Given the description of an element on the screen output the (x, y) to click on. 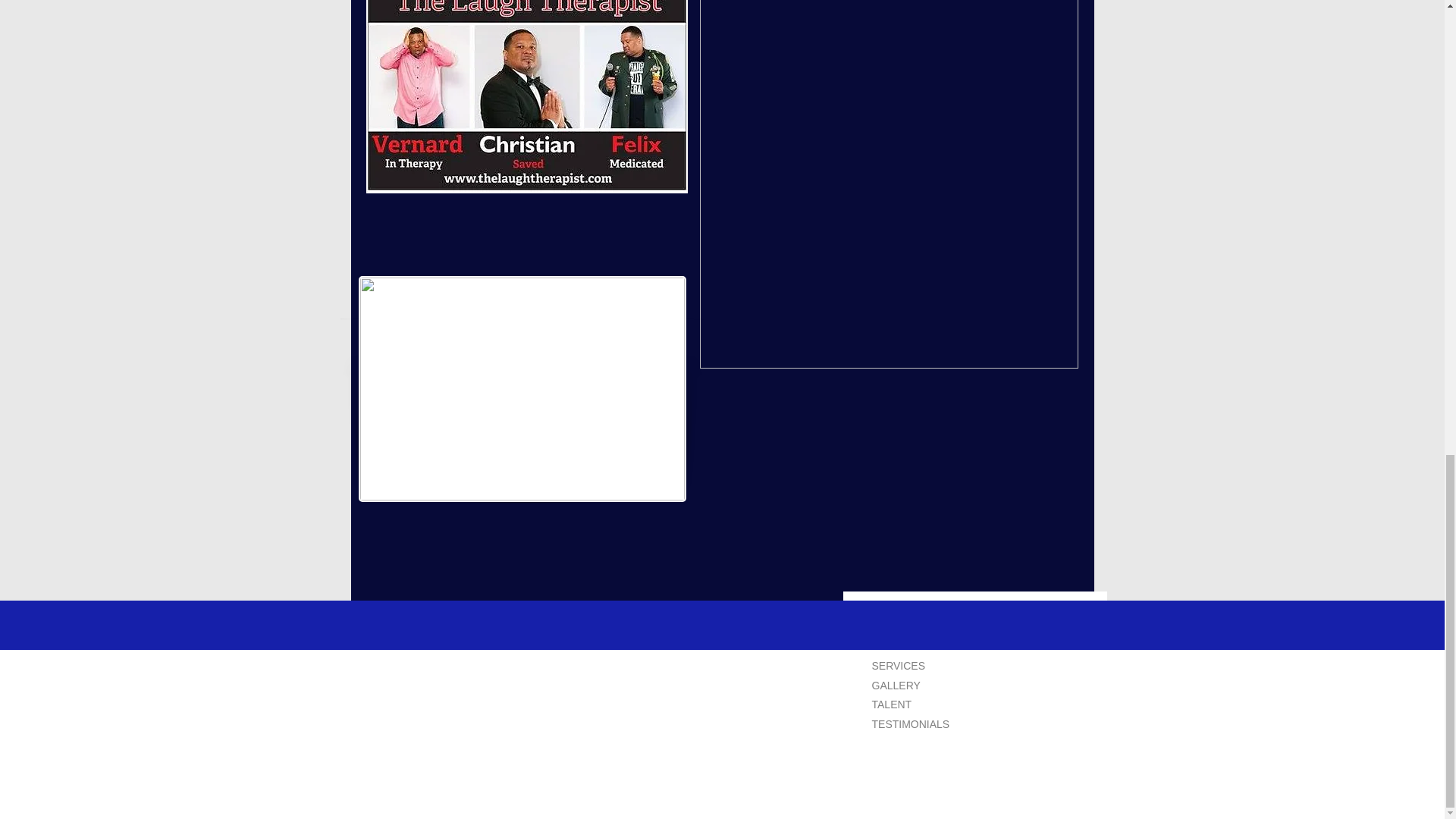
GALLERY (909, 686)
HOME (907, 626)
TALENT (909, 705)
ABOUT (909, 646)
SERVICES (909, 666)
External YouTube (895, 496)
TESTIMONIALS (914, 724)
